Given the description of an element on the screen output the (x, y) to click on. 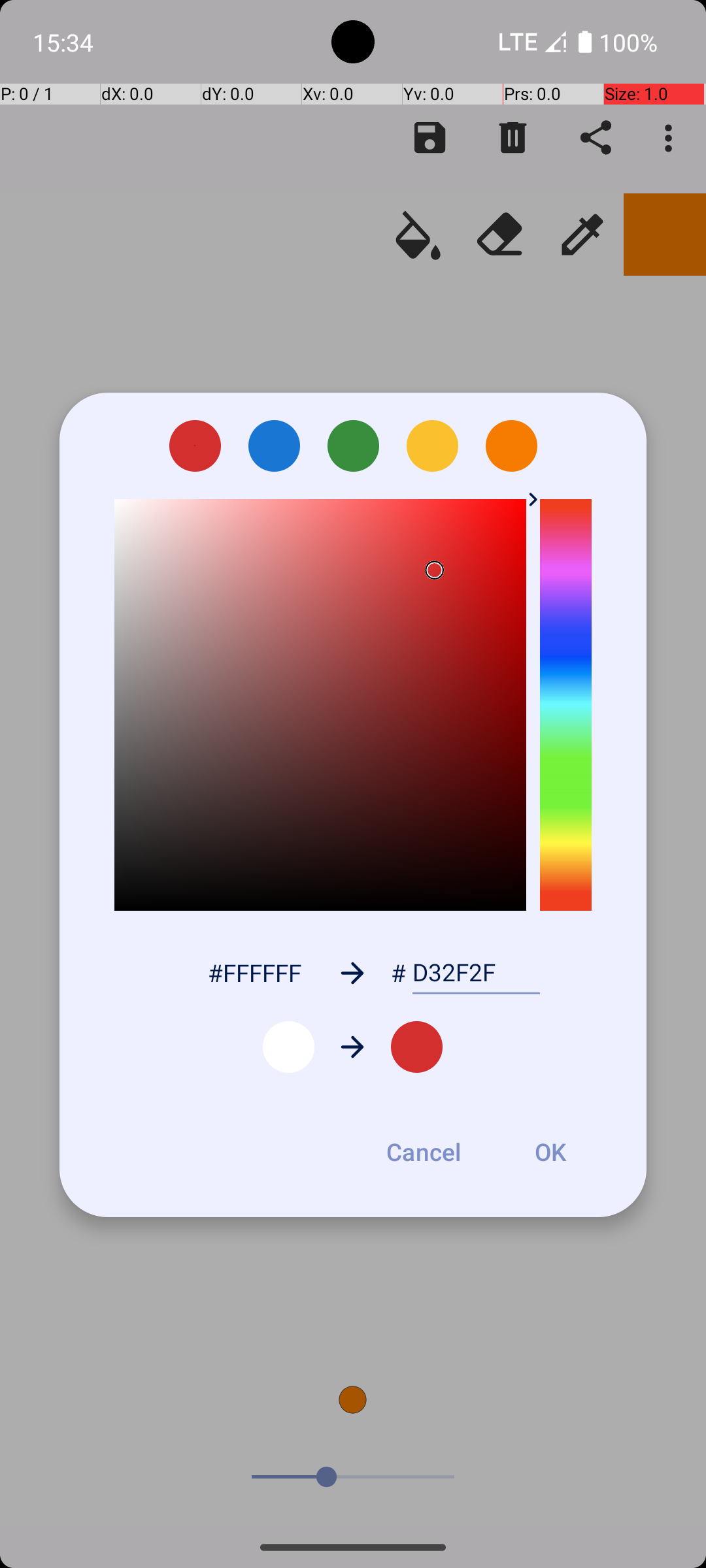
#FFFFFF Element type: android.widget.TextView (254, 972)
D32F2F Element type: android.widget.EditText (475, 972)
